Given the description of an element on the screen output the (x, y) to click on. 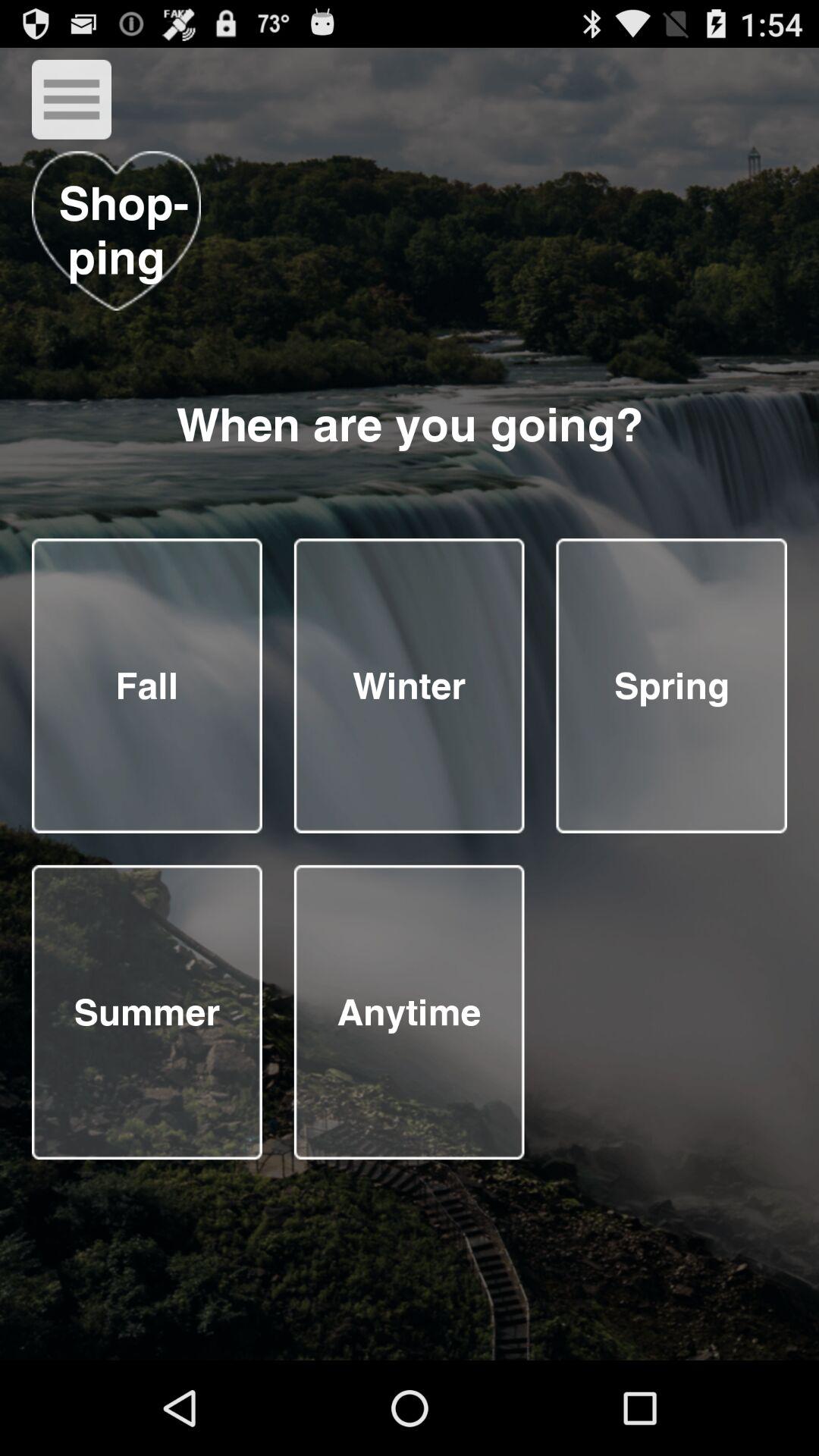
menu page (409, 685)
